Given the description of an element on the screen output the (x, y) to click on. 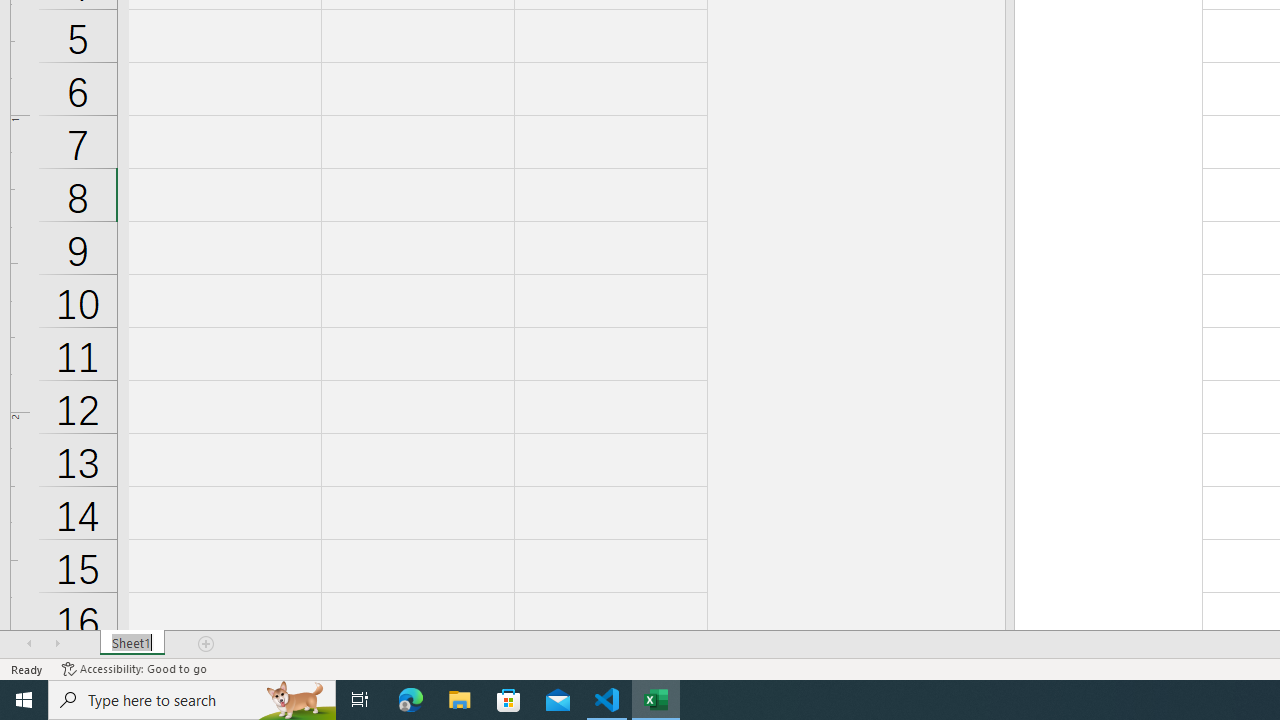
Sheet Tab (132, 644)
